Given the description of an element on the screen output the (x, y) to click on. 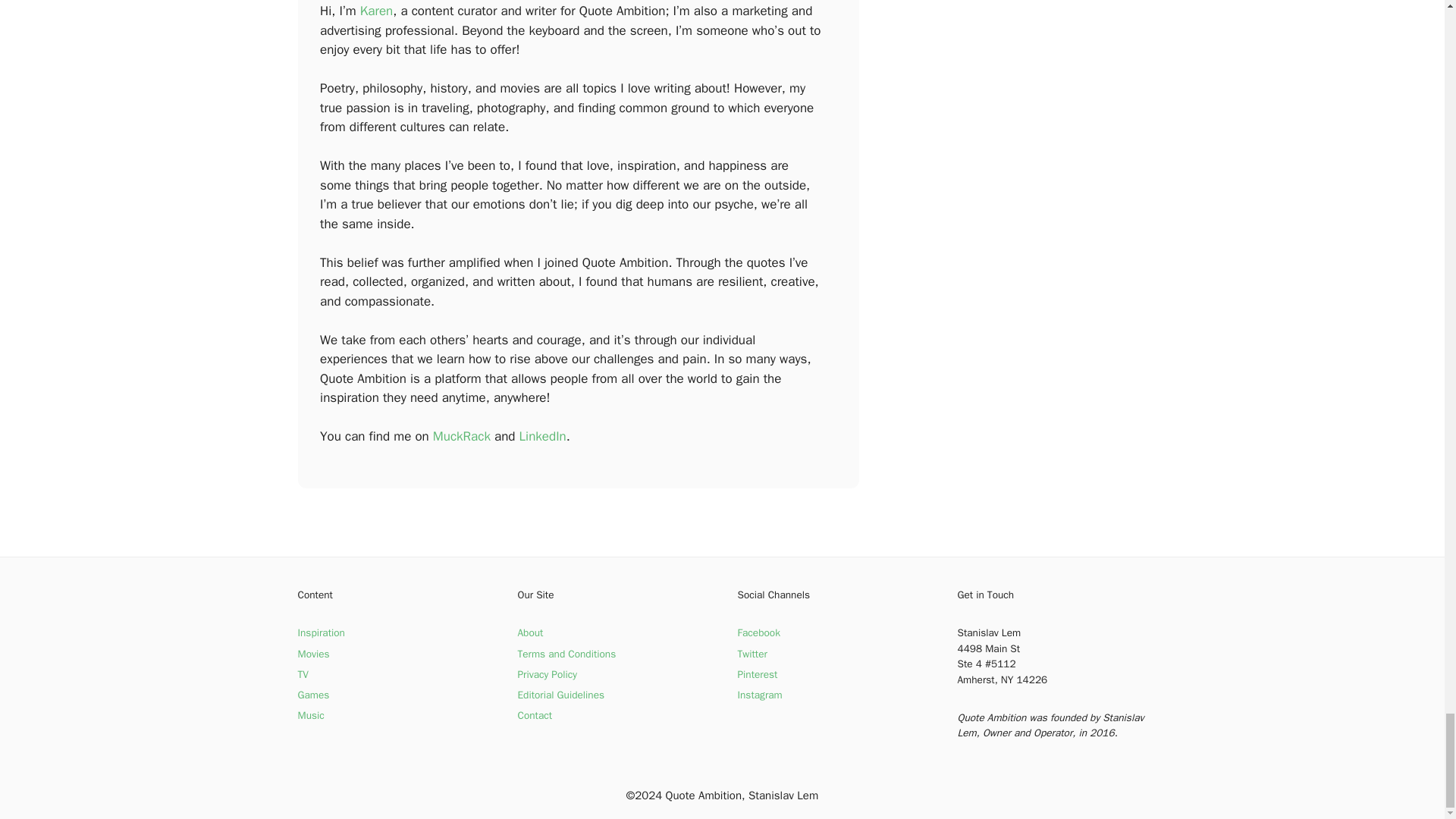
MuckRack (461, 436)
LinkedIn (542, 436)
Karen (376, 10)
Movies (313, 653)
Inspiration (320, 632)
